Given the description of an element on the screen output the (x, y) to click on. 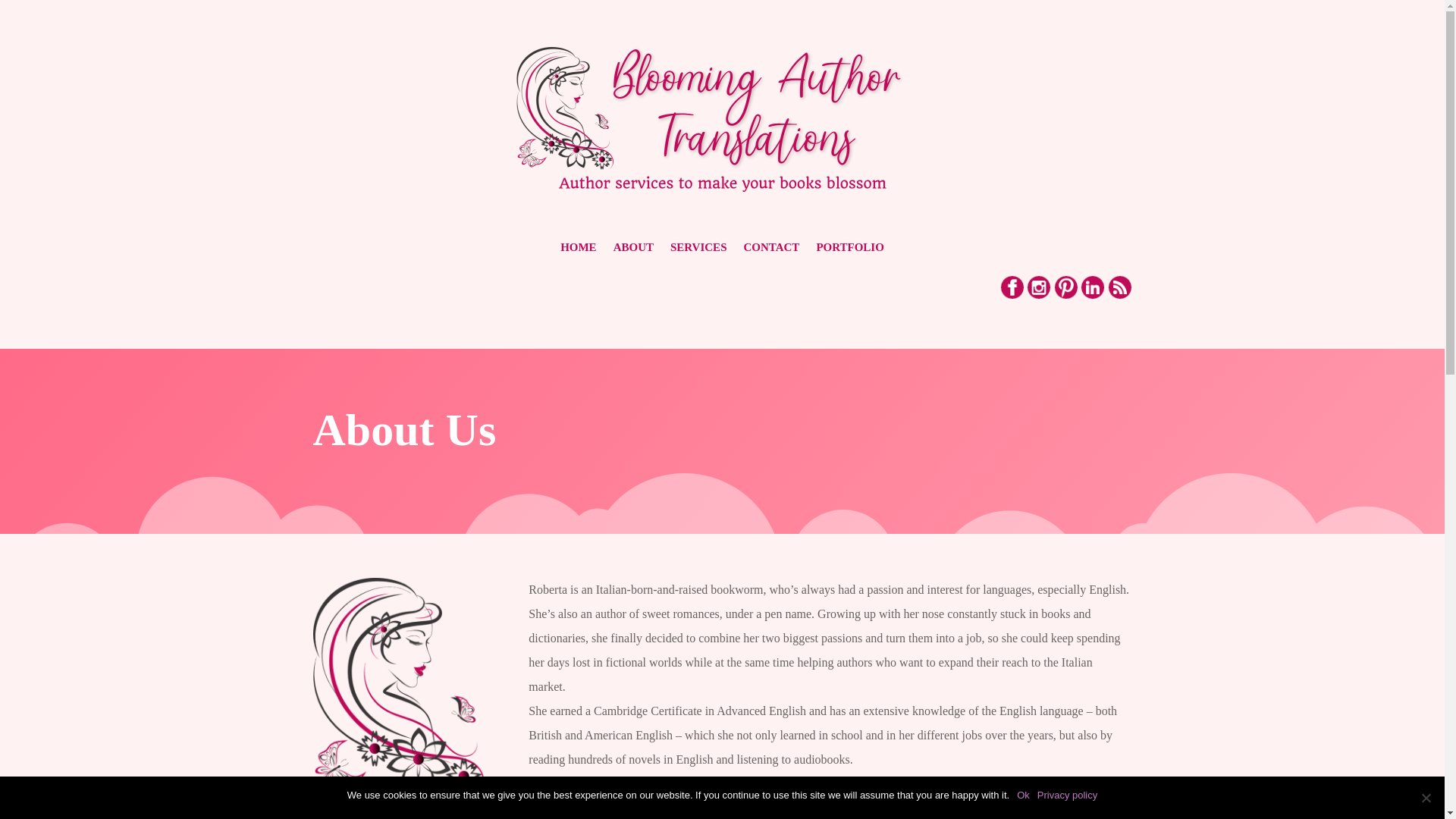
Contact (547, 807)
HOME (578, 249)
ABOUT (632, 249)
Privacy policy (1066, 795)
CONTACT (770, 249)
PORTFOLIO (849, 249)
No (1425, 797)
SERVICES (697, 249)
Services (625, 783)
